Given the description of an element on the screen output the (x, y) to click on. 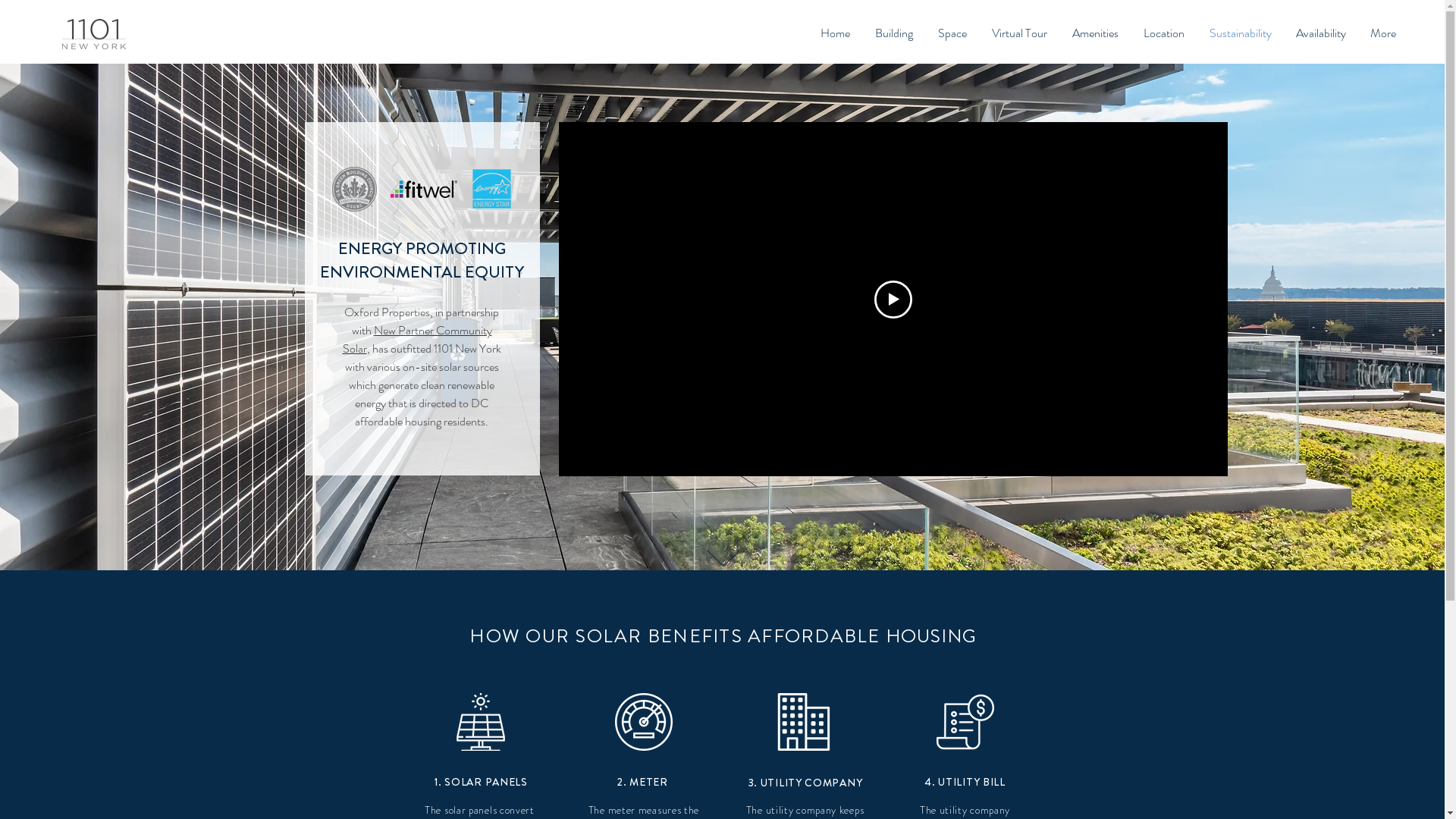
Home Element type: text (834, 33)
Space Element type: text (952, 33)
New Partner Community Solar Element type: text (417, 339)
Amenities Element type: text (1094, 33)
Building Element type: text (893, 33)
Availability Element type: text (1320, 33)
Location Element type: text (1163, 33)
Sustainability Element type: text (1239, 33)
Virtual Tour Element type: text (1019, 33)
